Given the description of an element on the screen output the (x, y) to click on. 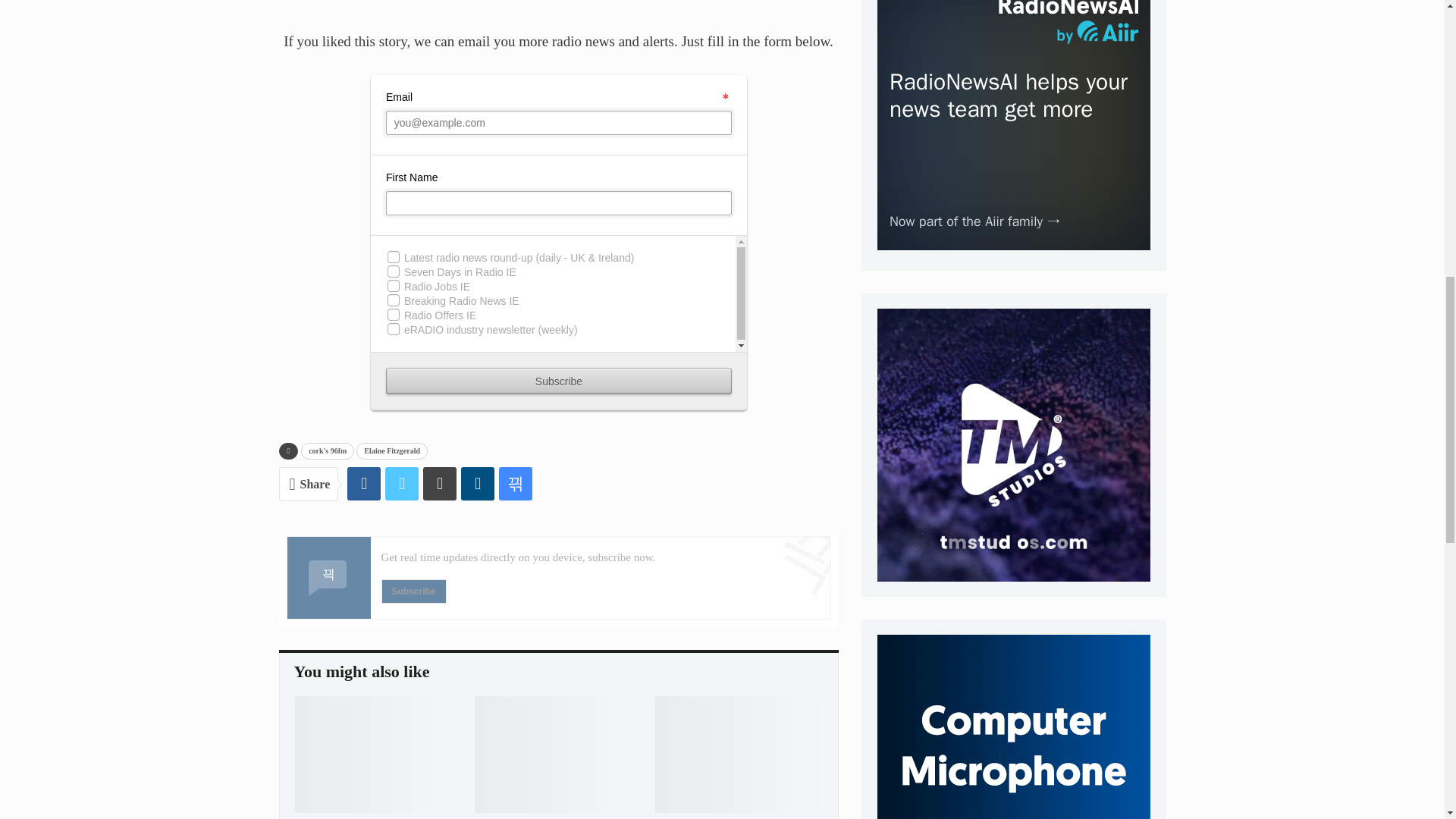
Live 95 partners with Down Syndrome Limerick (738, 754)
Elaine Fitzgerald (392, 451)
cork's 96fm (327, 451)
